Given the description of an element on the screen output the (x, y) to click on. 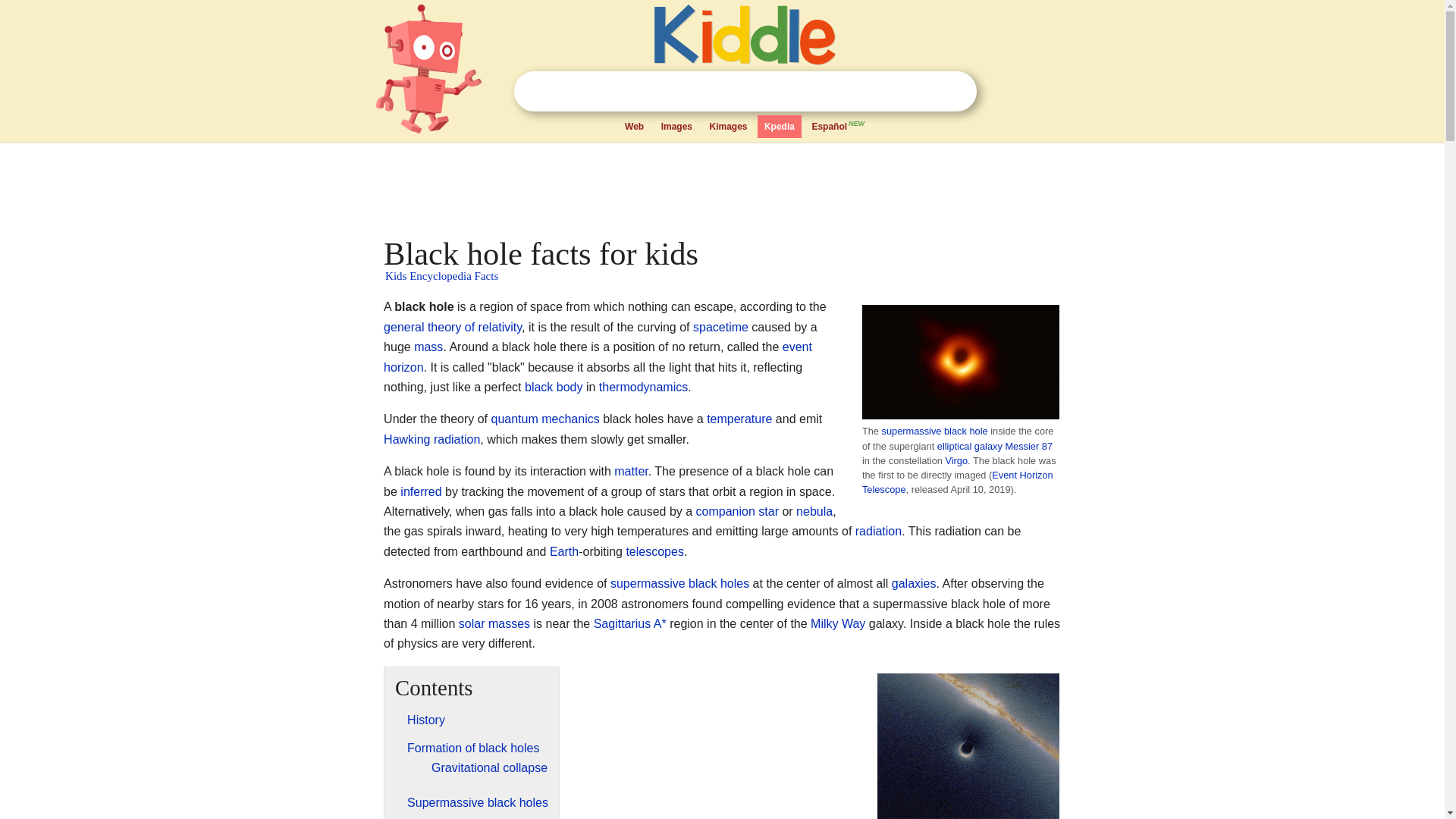
nebula (814, 511)
Hawking radiation (432, 439)
Implication and inference (420, 491)
Images (675, 126)
Black-body radiation (553, 386)
Quantum mechanics (545, 418)
Earth (564, 551)
radiation (878, 530)
Search (955, 91)
companion star (736, 511)
